Given the description of an element on the screen output the (x, y) to click on. 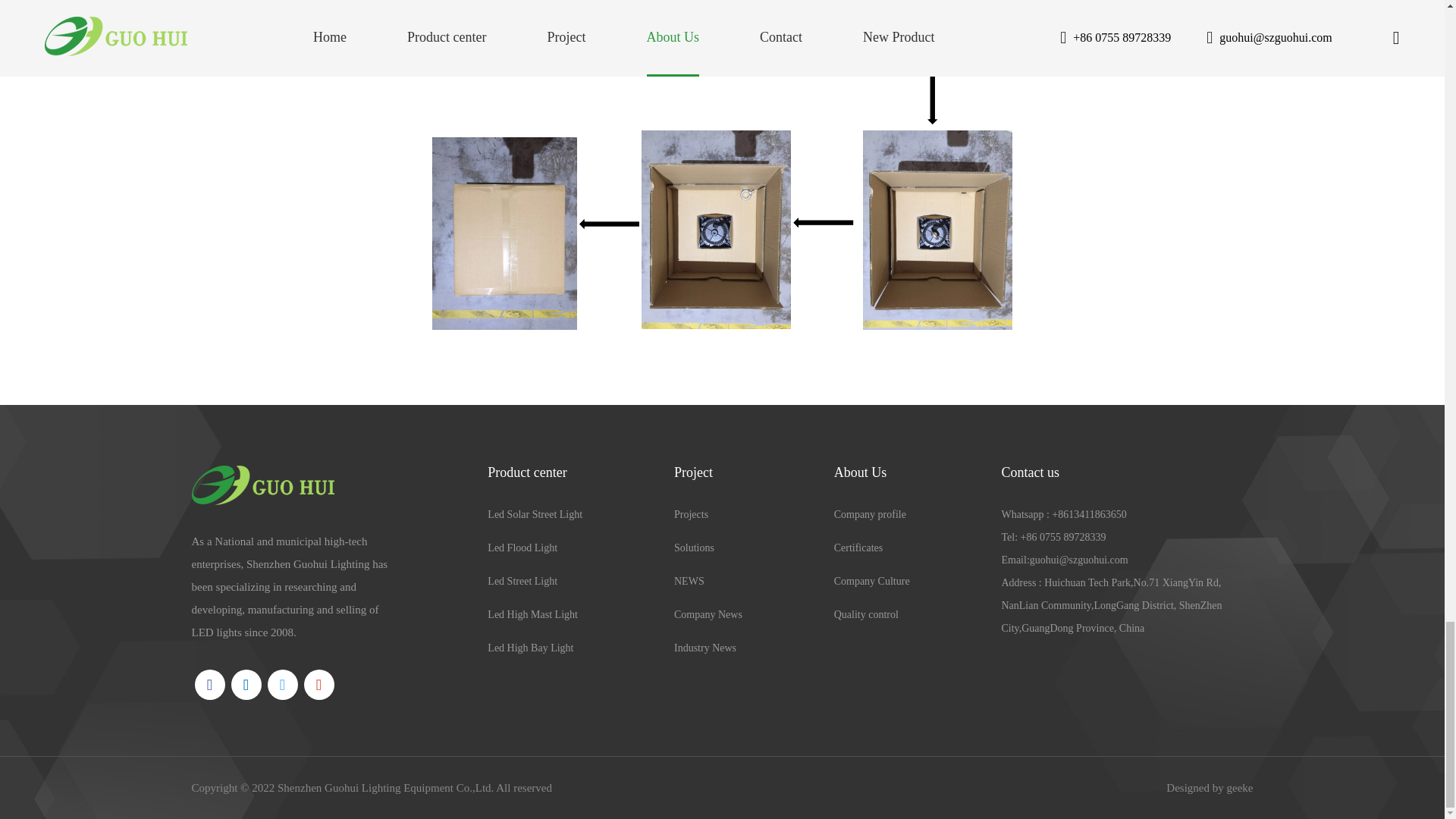
Led Solar Street Light (534, 514)
NEWS (708, 581)
Company News (708, 614)
Led Street Light (534, 581)
Led High Mast Light (534, 614)
Certificates (872, 548)
Led High Bay Light (534, 648)
Company profile (872, 514)
Solutions (708, 548)
Led Flood Light (534, 548)
Industry News (708, 648)
Projects (708, 514)
